Given the description of an element on the screen output the (x, y) to click on. 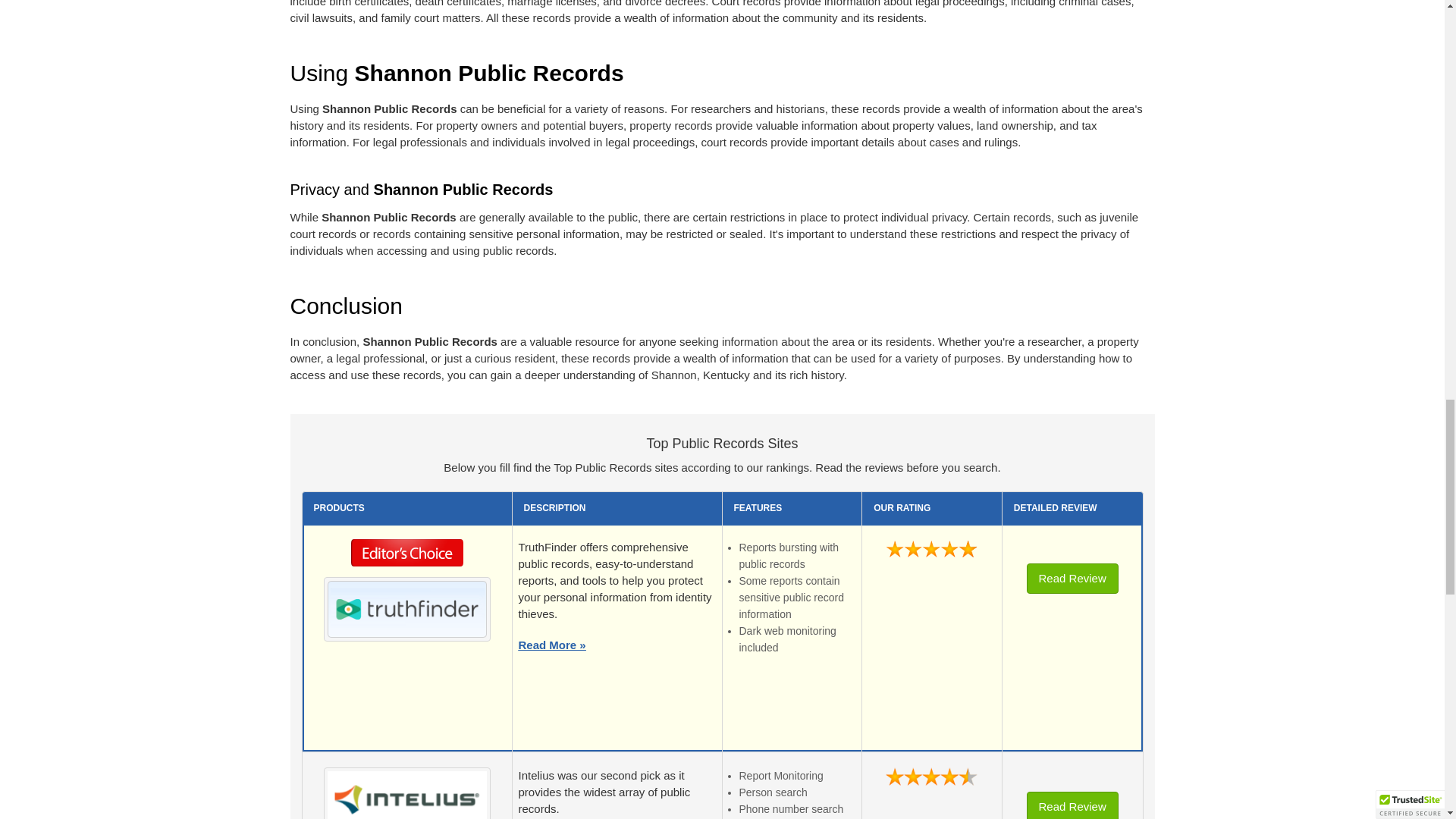
Intelius (406, 795)
Editors Choice (407, 556)
TruthFinder (406, 608)
